Given the description of an element on the screen output the (x, y) to click on. 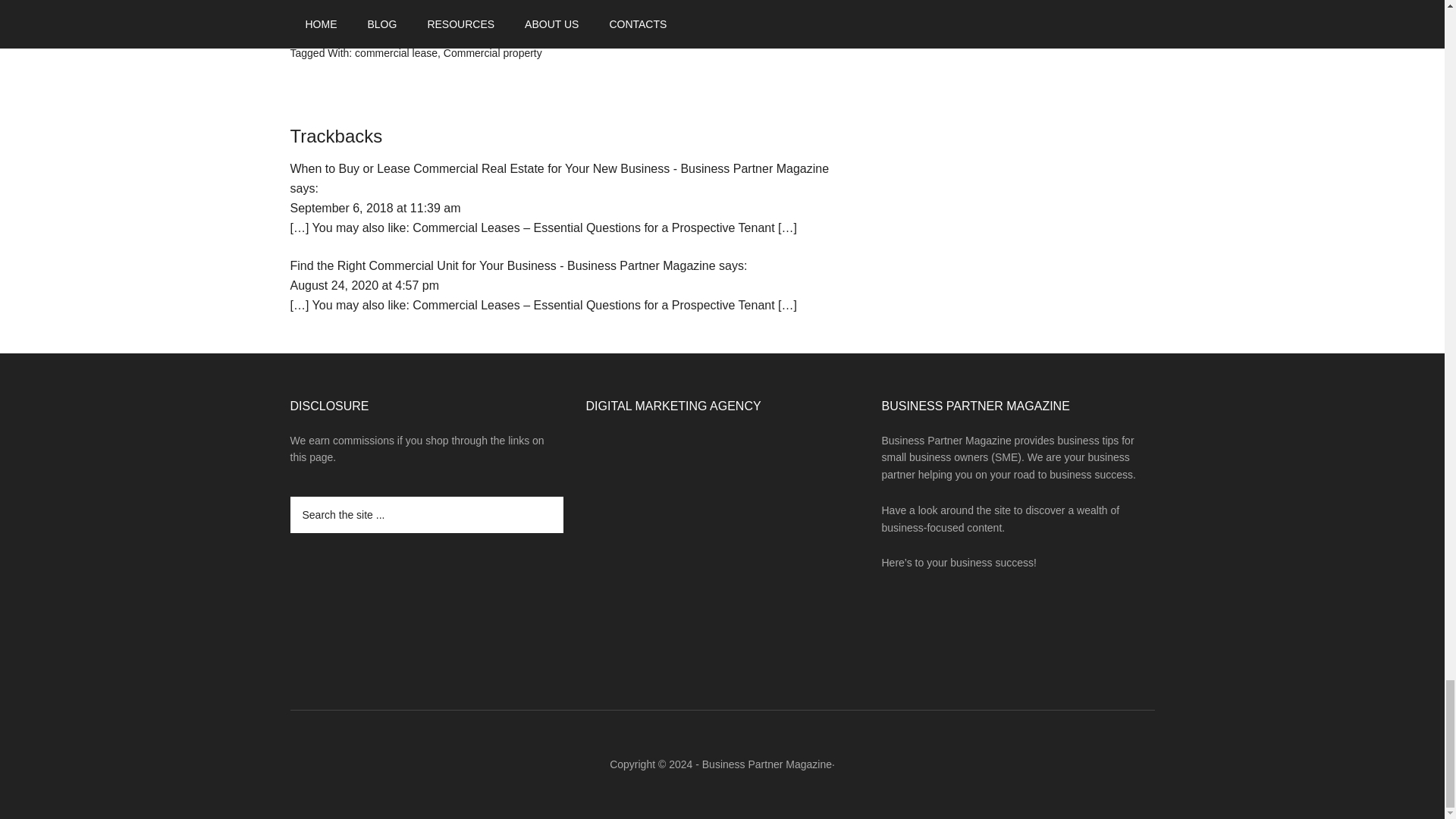
Business Success (394, 35)
August 24, 2020 at 4:57 pm (364, 285)
commercial lease (396, 52)
Commercial property (492, 52)
Legal (455, 35)
September 6, 2018 at 11:39 am (374, 207)
